Given the description of an element on the screen output the (x, y) to click on. 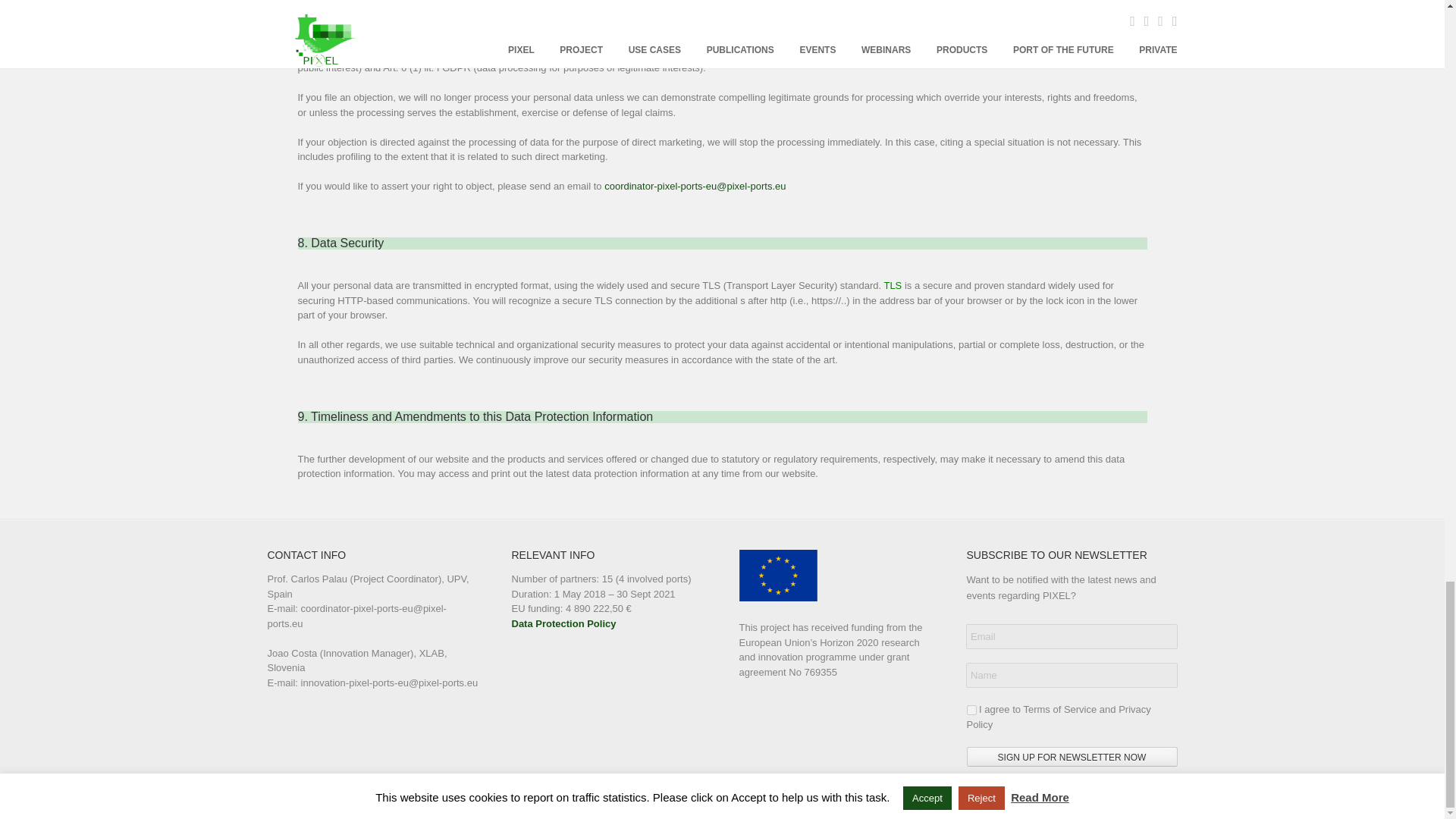
Find Us on LinkedIn (1174, 801)
Name (1071, 675)
View our YouTube Channel (1160, 801)
Find Us on Facebook (1132, 801)
Email (1071, 636)
SIGN UP FOR NEWSLETTER NOW (1071, 756)
Follow Us on Twitter (1147, 801)
1 (970, 709)
